Given the description of an element on the screen output the (x, y) to click on. 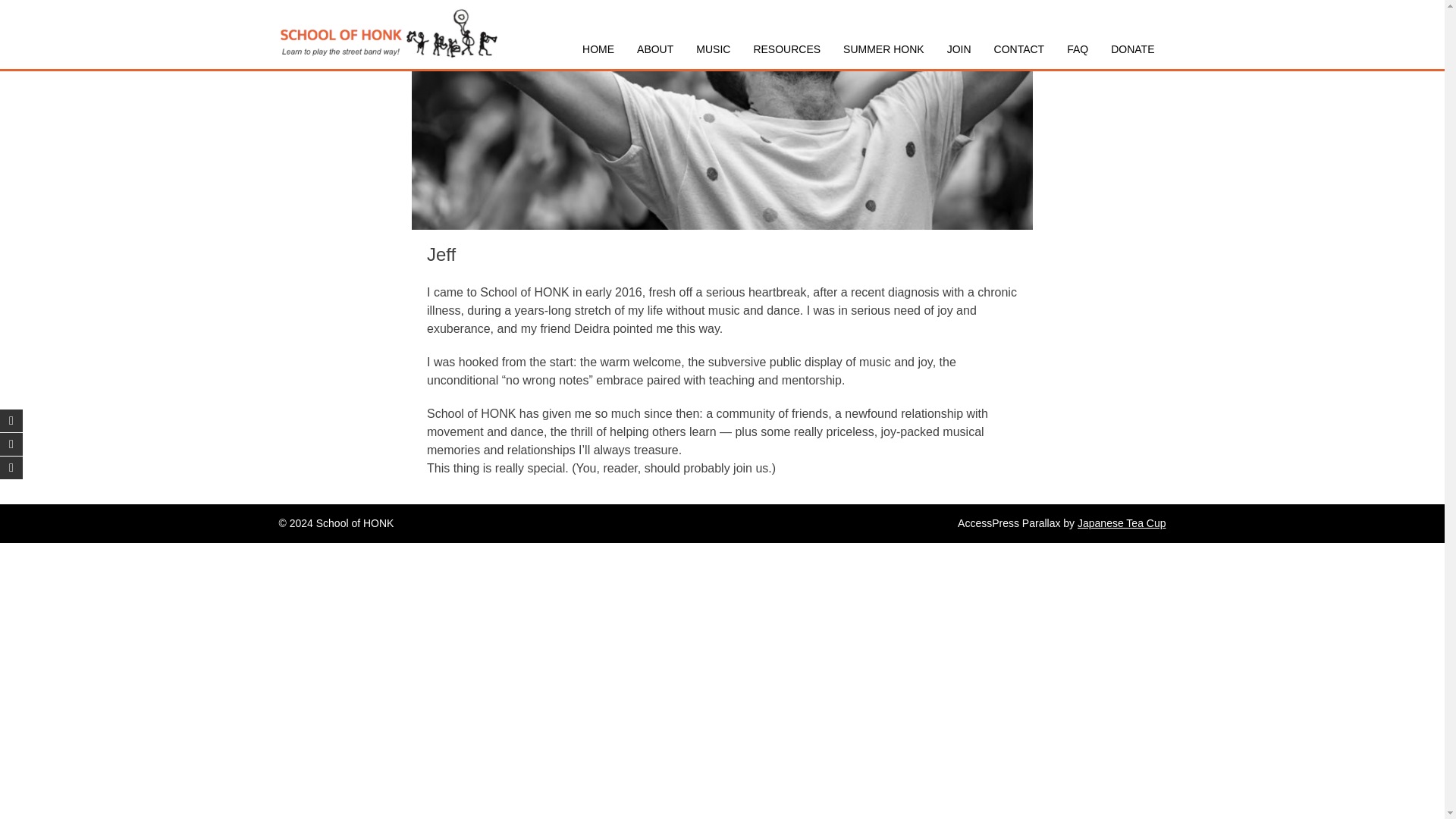
Japanese Tea Cup (1121, 522)
CONTACT (1019, 49)
Japanese Tea Cup (1121, 522)
ABOUT (655, 49)
JOIN (959, 49)
HOME (598, 49)
MUSIC (712, 49)
DONATE (1132, 49)
FAQ (1077, 49)
RESOURCES (786, 49)
SUMMER HONK (883, 49)
